Given the description of an element on the screen output the (x, y) to click on. 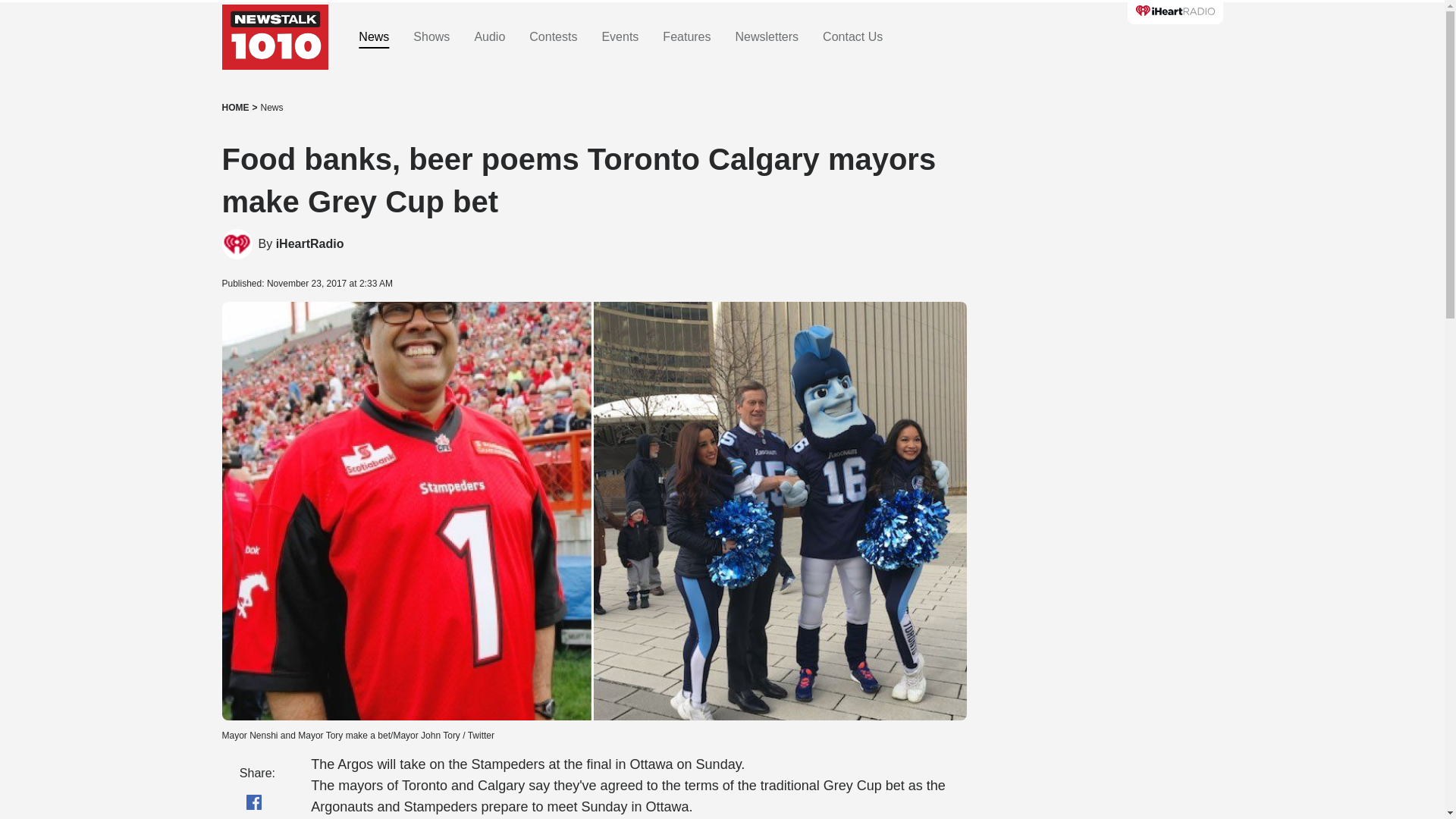
iHeartRadio   (309, 243)
Features (686, 37)
Contact Us (852, 37)
Contests (552, 37)
Newsletters (767, 37)
iHeartRadio   (236, 244)
iHeartRadio (309, 243)
News (271, 107)
HOME (234, 107)
